Given the description of an element on the screen output the (x, y) to click on. 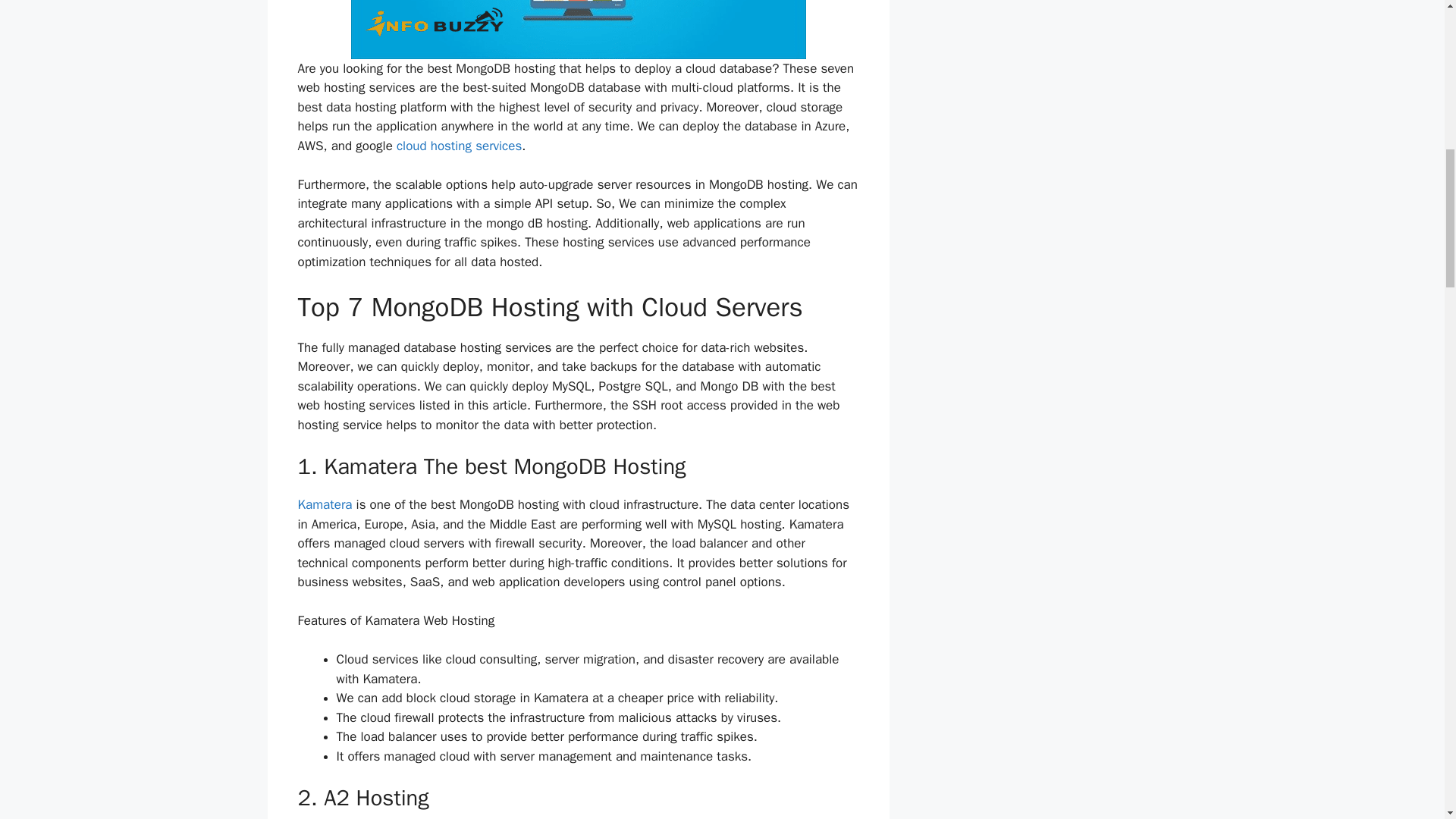
cloud hosting services (458, 145)
Kamatera (324, 504)
